Given the description of an element on the screen output the (x, y) to click on. 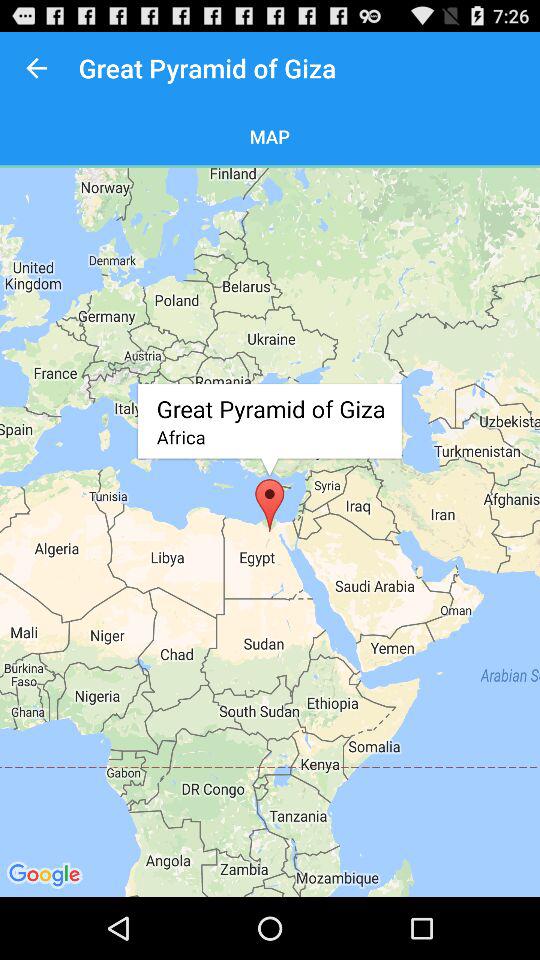
turn on item next to great pyramid of item (36, 68)
